Given the description of an element on the screen output the (x, y) to click on. 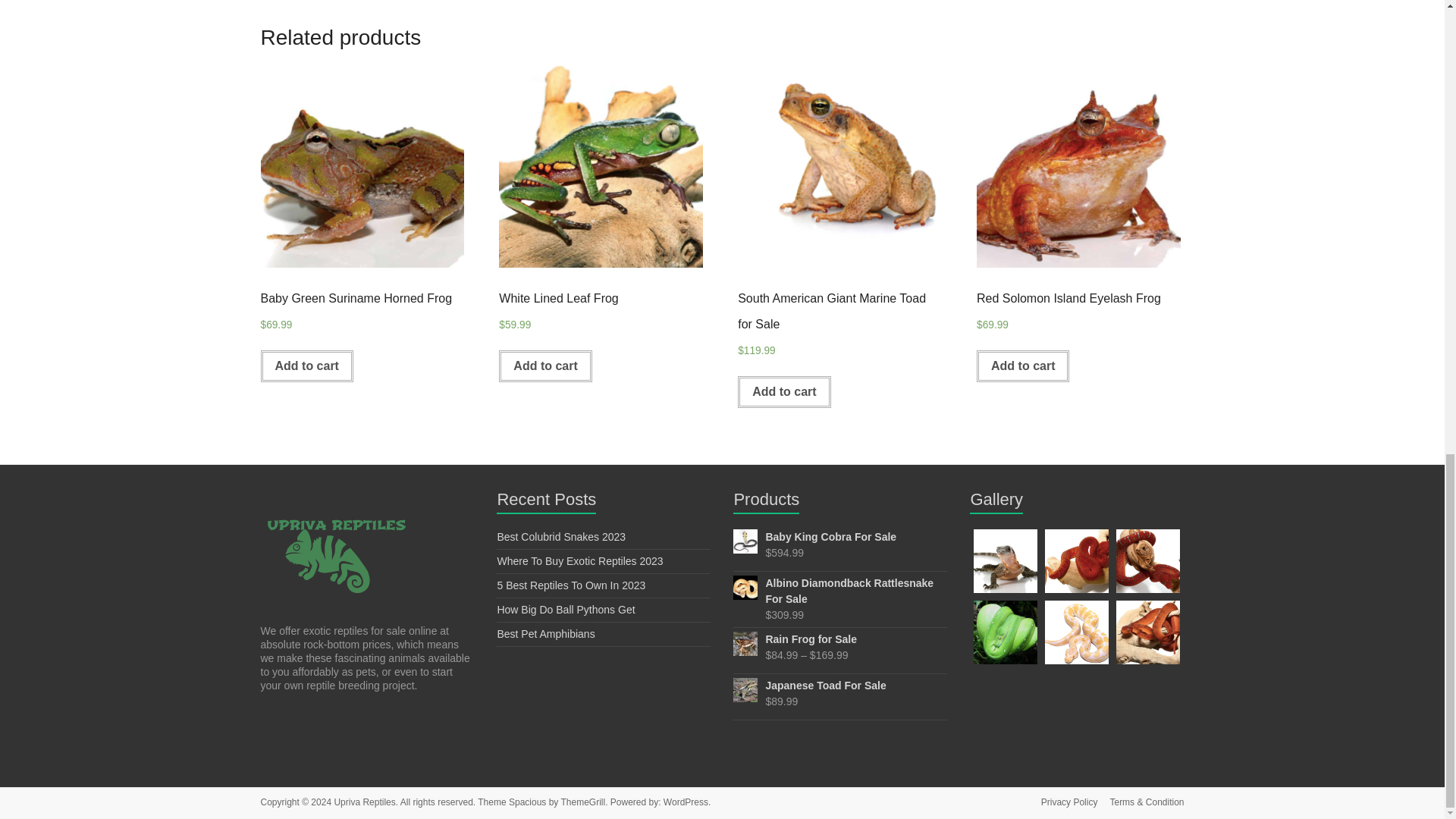
Spacious (527, 801)
Upriva Reptiles (363, 801)
WordPress (685, 801)
